Given the description of an element on the screen output the (x, y) to click on. 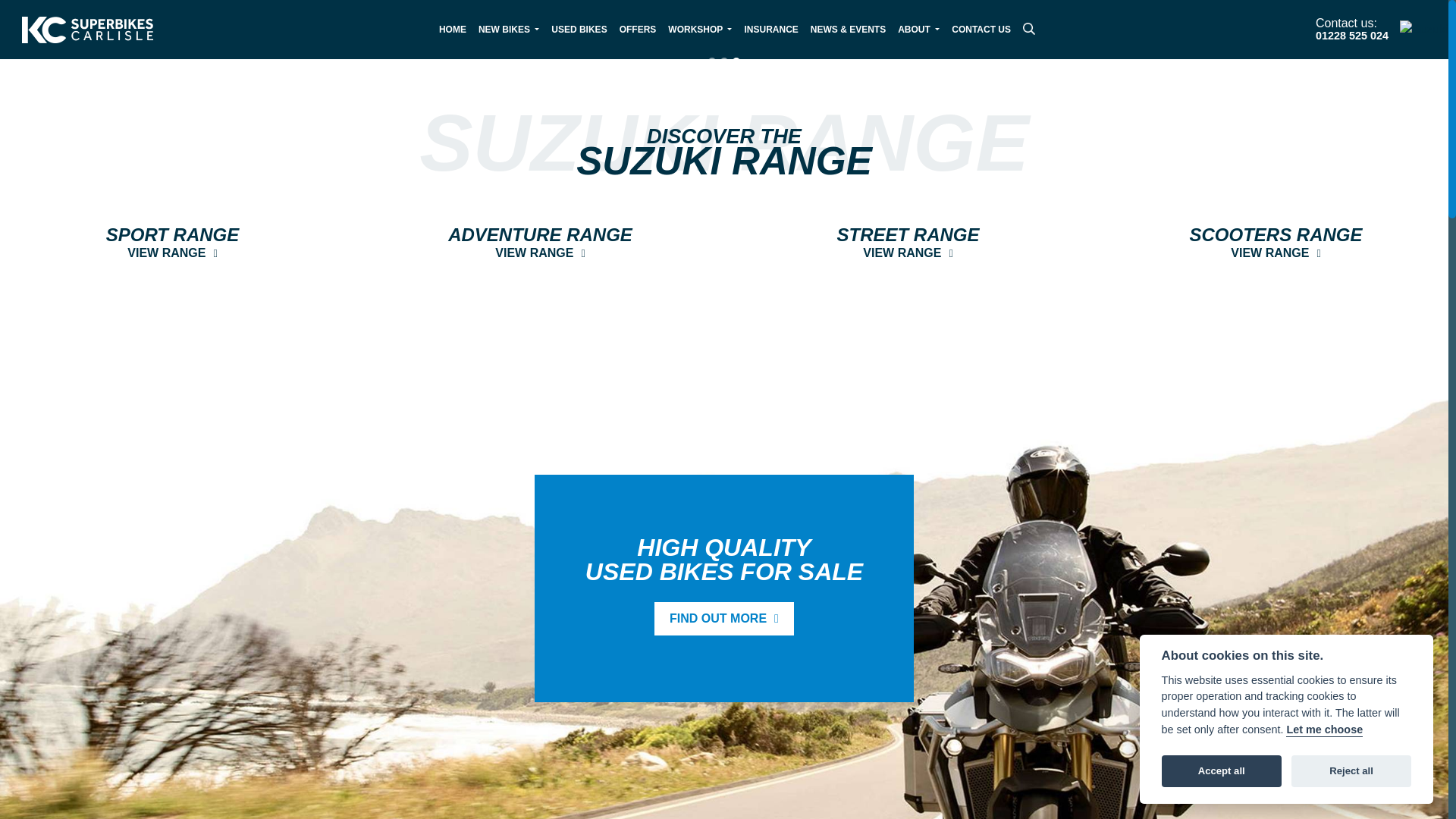
Home (451, 29)
INSURANCE (770, 29)
USED BIKES (540, 243)
OFFERS (578, 29)
ABOUT (637, 29)
01228 525 024 (917, 29)
HOME (1352, 36)
CONTACT US (172, 243)
Insurance (451, 29)
Offers (980, 29)
FIND OUT MORE (770, 29)
WORKSHOP (907, 243)
